Given the description of an element on the screen output the (x, y) to click on. 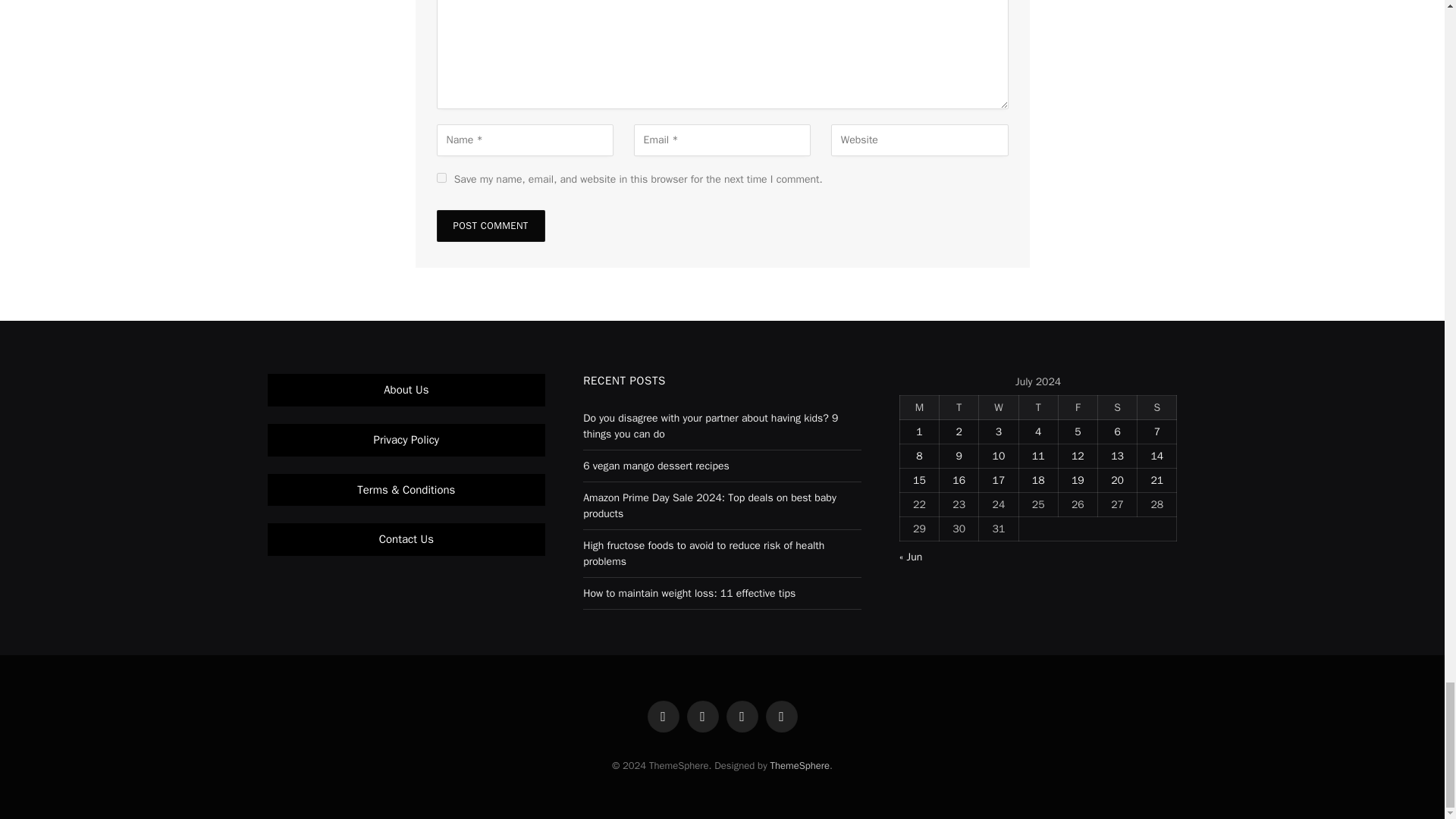
Post Comment (490, 225)
About Us (406, 389)
Privacy Policy (406, 439)
Post Comment (490, 225)
Contact Us (405, 539)
yes (441, 177)
